Given the description of an element on the screen output the (x, y) to click on. 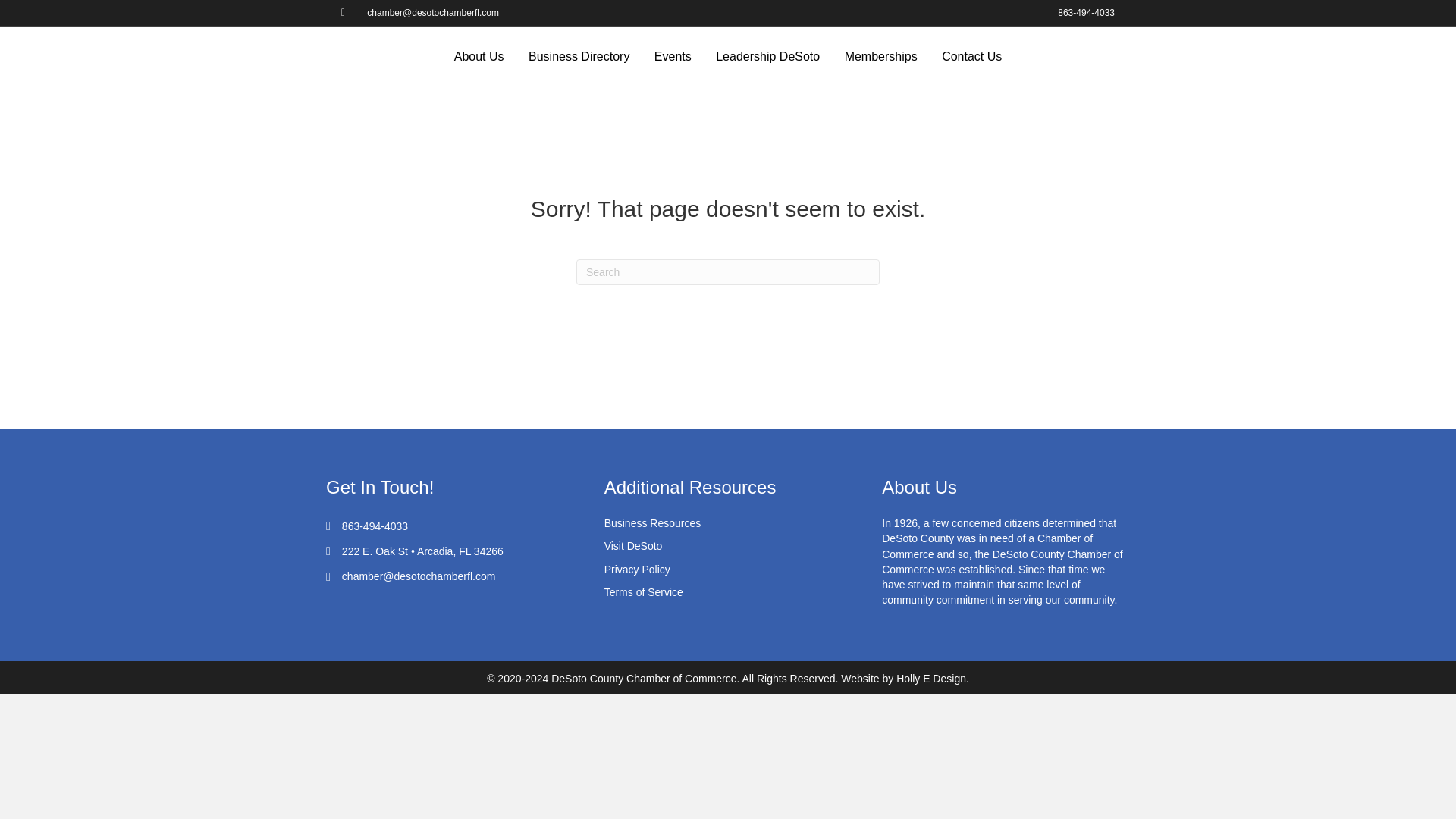
Terms of Service (643, 592)
863-494-4033 (1086, 12)
Contact Us (971, 56)
863-494-4033 (374, 525)
Memberships (881, 56)
About Us (479, 56)
Facebook (349, 11)
Visit DeSoto (633, 545)
Privacy Policy (636, 569)
Type and press Enter to search. (727, 272)
